Given the description of an element on the screen output the (x, y) to click on. 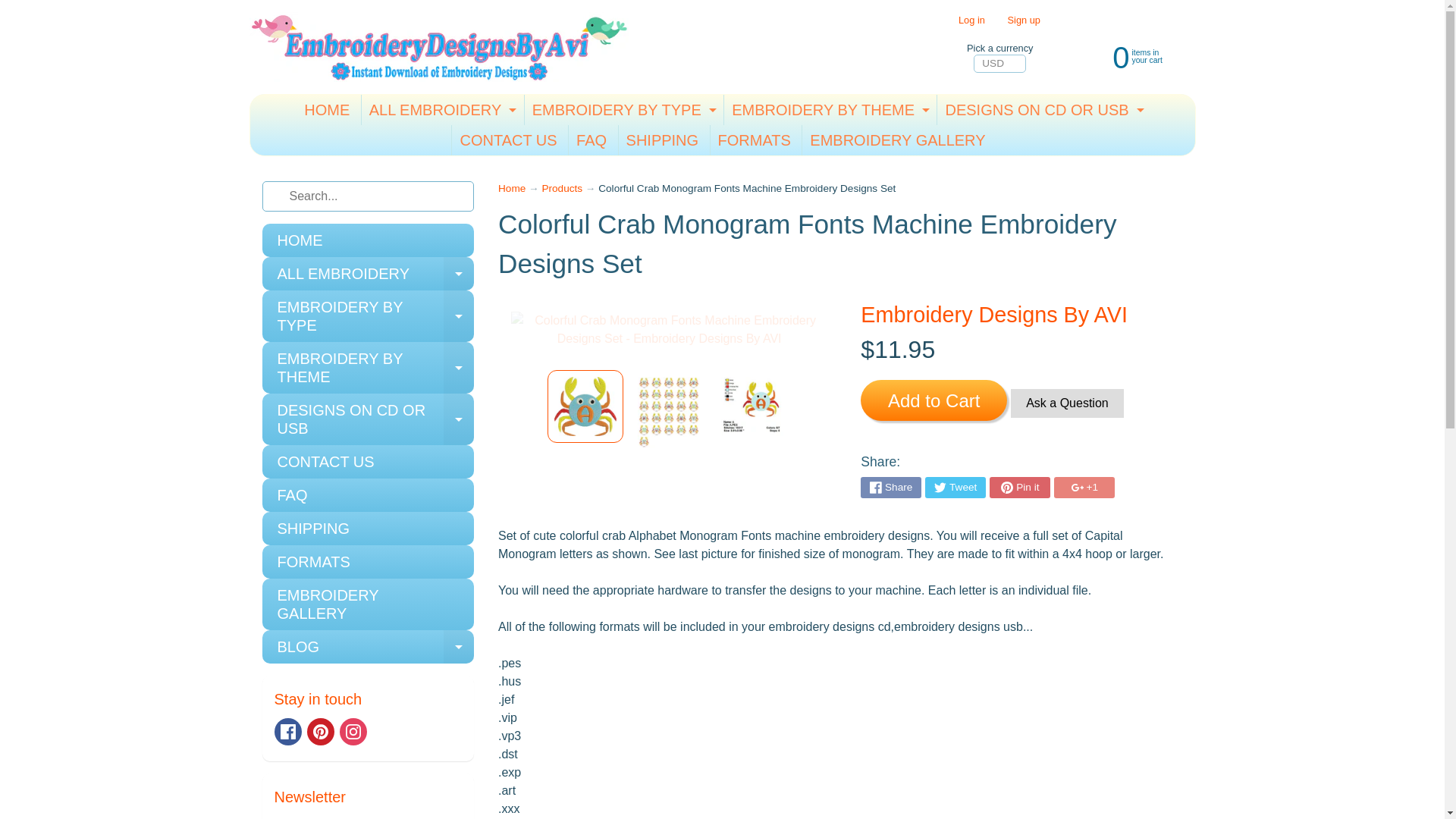
Pinterest (1122, 56)
Back to the home page (622, 110)
HOME (320, 731)
Colorful Crab Monogram Fonts Machine Embroidery Designs Set (511, 188)
Colorful Crab Monogram Fonts Machine Embroidery Designs Set (326, 110)
Share on Facebook (828, 110)
Facebook (585, 406)
Tweet on Twitter (752, 406)
Instagram (890, 486)
Colorful Crab Monogram Fonts Machine Embroidery Designs Set (288, 731)
Log in (954, 486)
